Given the description of an element on the screen output the (x, y) to click on. 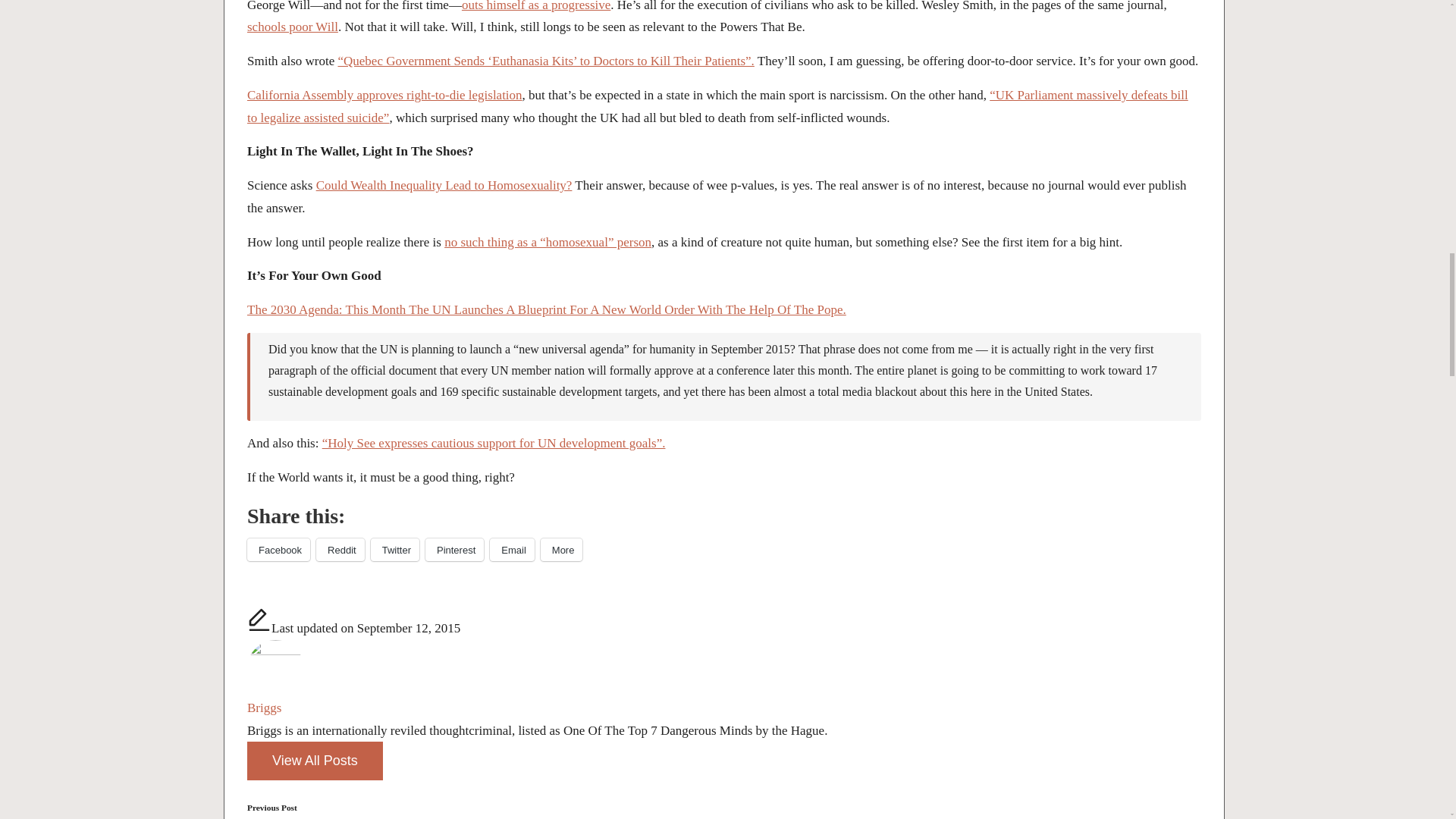
Could Wealth Inequality Lead to Homosexuality? (443, 185)
Facebook (278, 549)
schools poor Will (292, 26)
Twitter (395, 549)
Click to share on Facebook (278, 549)
Reddit (340, 549)
Click to email a link to a friend (511, 549)
Click to share on Twitter (395, 549)
outs himself as a progressive (535, 6)
Click to share on Pinterest (454, 549)
Click to share on Reddit (340, 549)
California Assembly approves right-to-die legislation (384, 94)
